Given the description of an element on the screen output the (x, y) to click on. 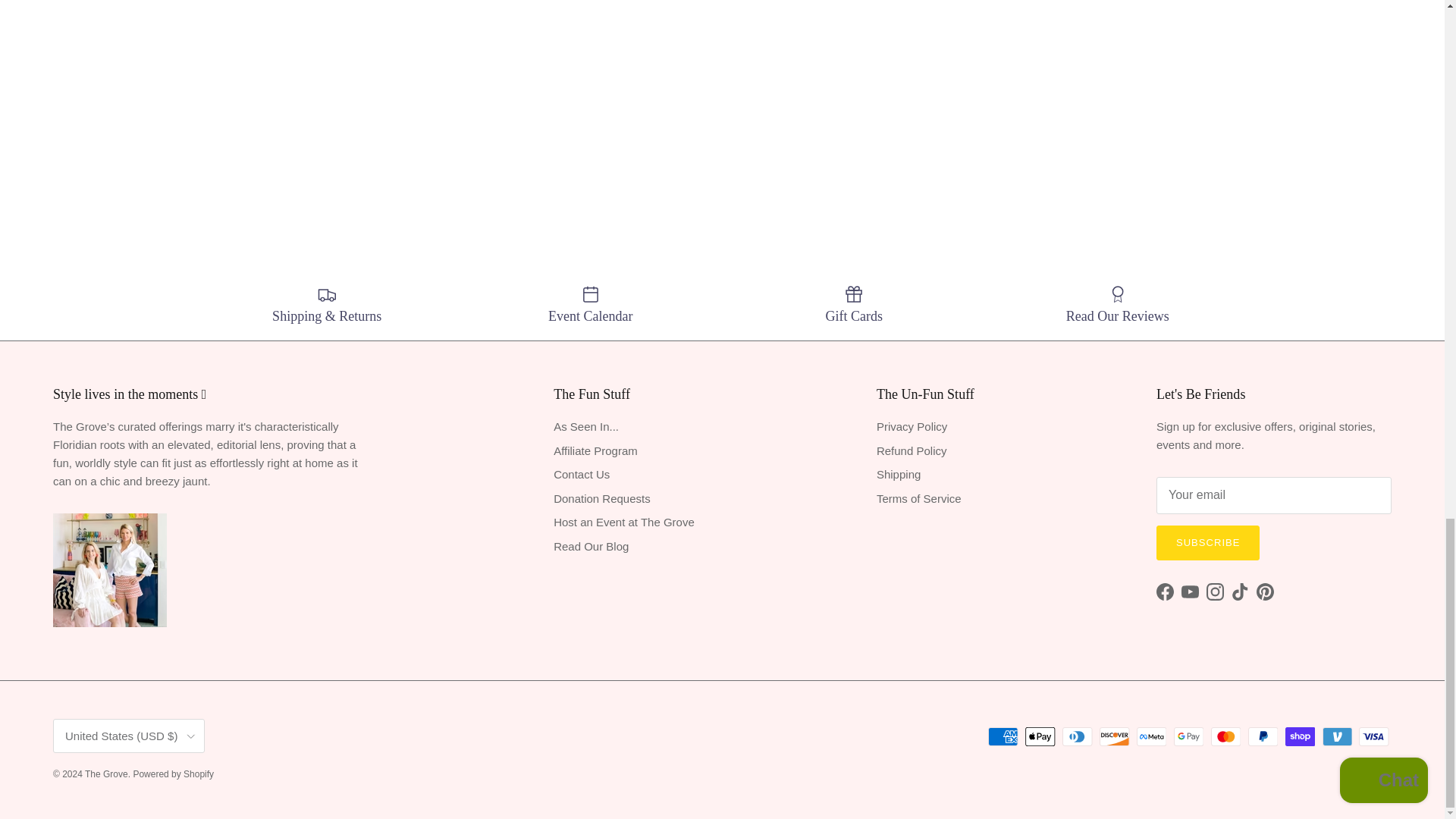
The Grove on Instagram (1215, 591)
The Grove on TikTok (1240, 591)
The Grove on Facebook (1164, 591)
The Grove on YouTube (1189, 591)
